Given the description of an element on the screen output the (x, y) to click on. 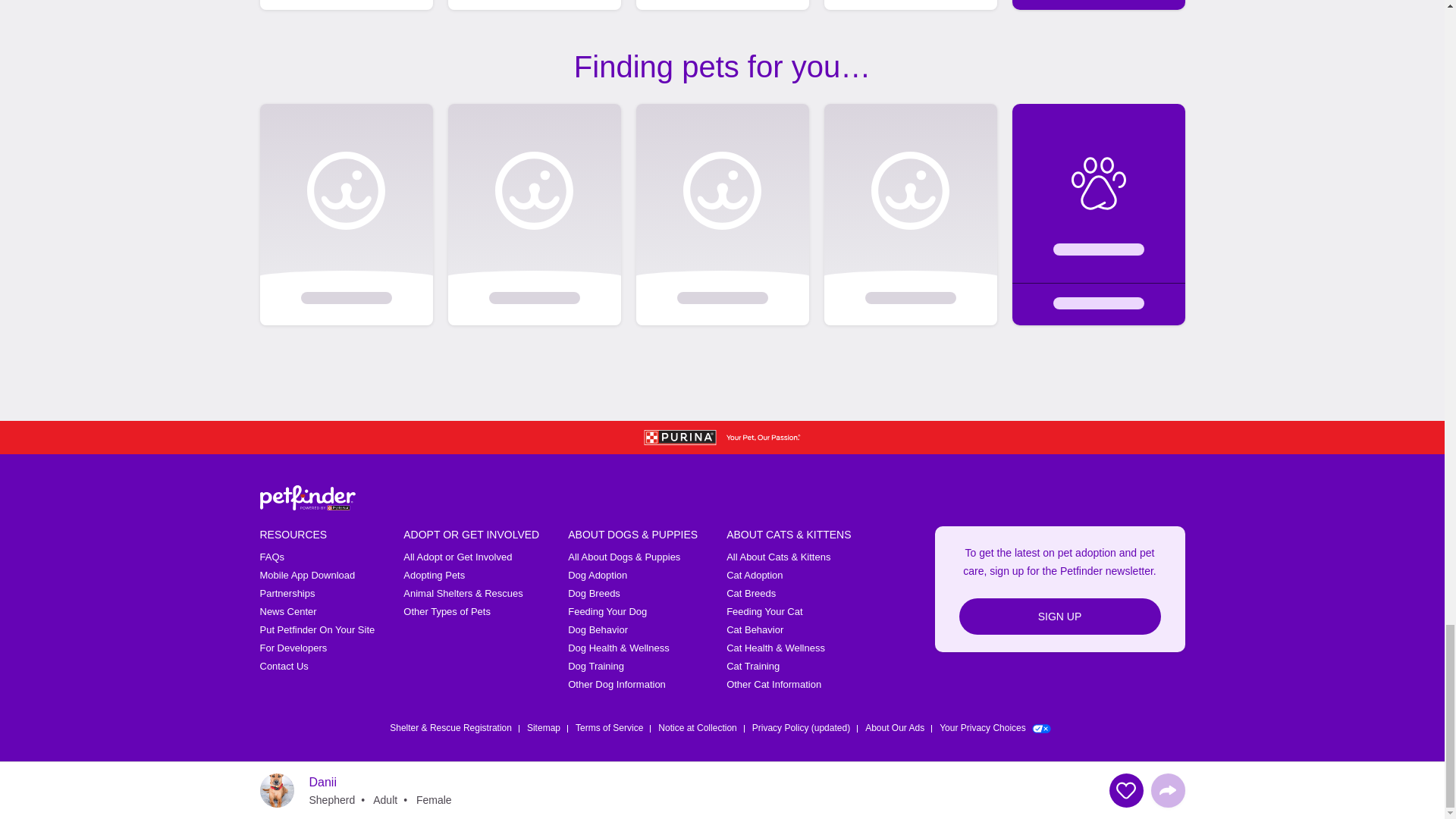
Pinterest (1176, 791)
Facebook (1018, 791)
Twitter (1057, 791)
Instagram (1097, 791)
YouTube (1136, 791)
Petfinder Logo (307, 497)
